Given the description of an element on the screen output the (x, y) to click on. 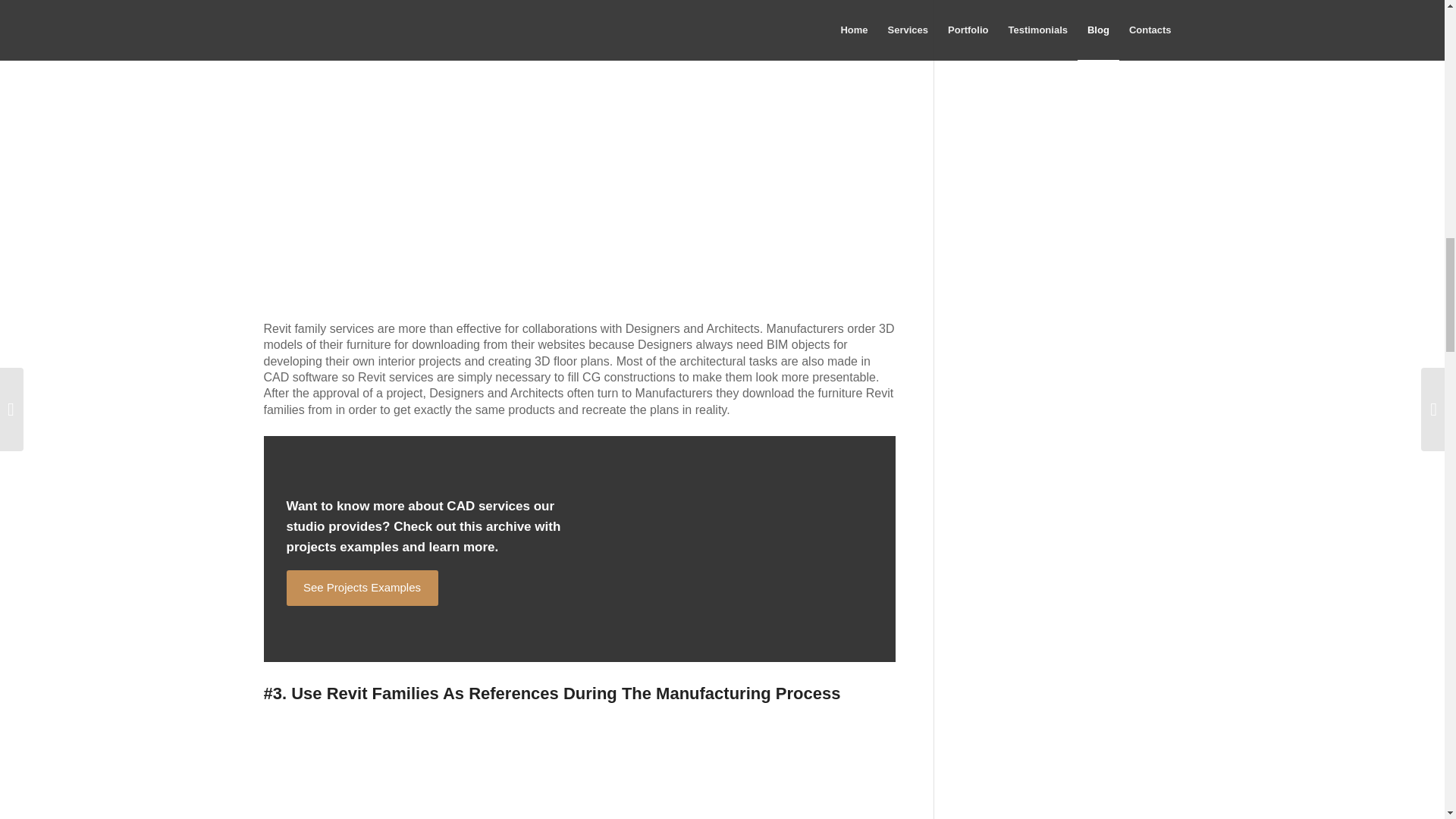
See Projects Examples (362, 588)
Revit Family Services for a Chic Armchair (566, 773)
Revit Millwork Models for Product Design Testing (528, 117)
